Given the description of an element on the screen output the (x, y) to click on. 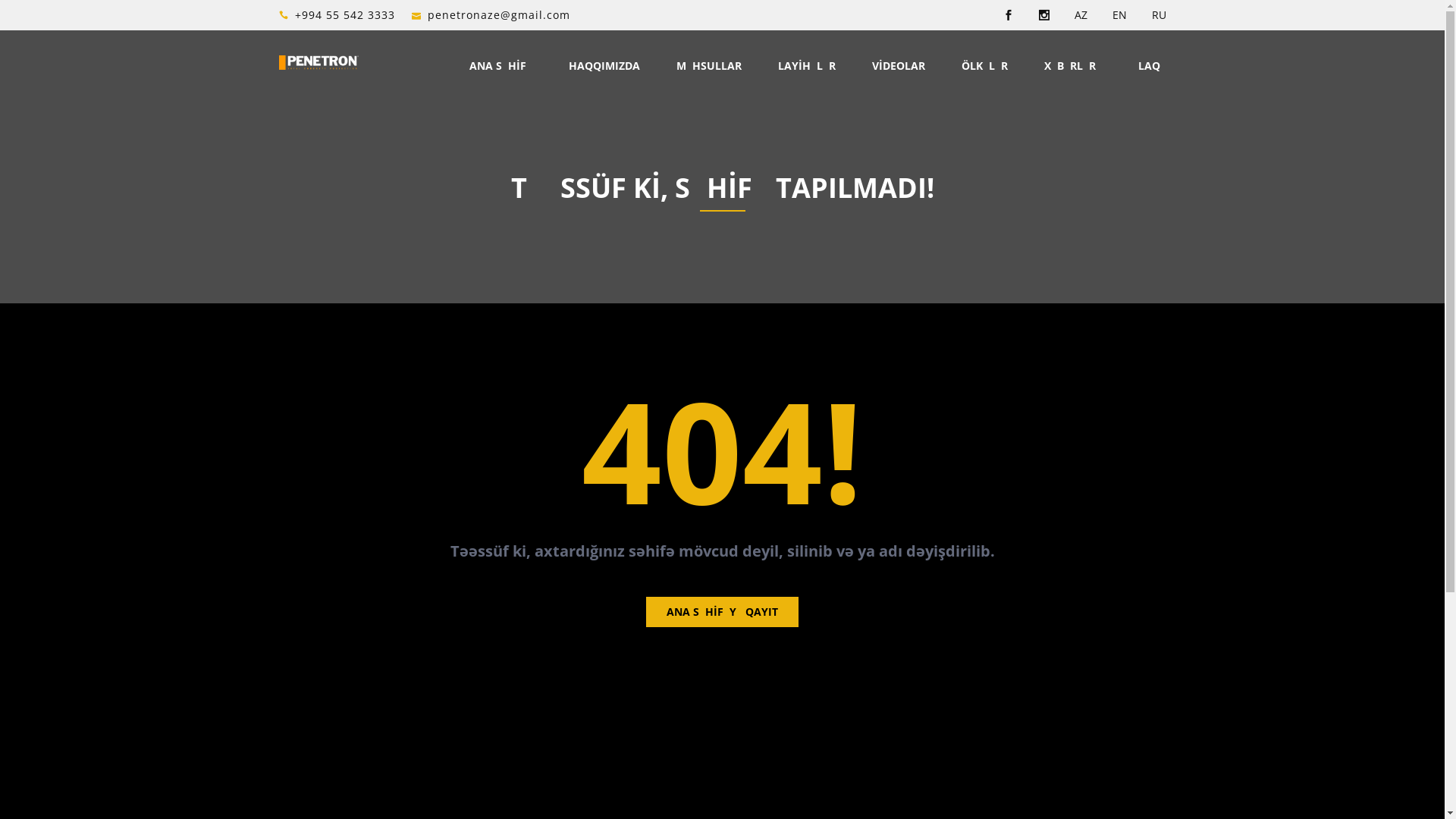
+994 55 542 3333 Element type: text (344, 14)
AZ Element type: text (1079, 15)
HAQQIMIZDA Element type: text (604, 65)
EN Element type: text (1118, 15)
VIDEOLAR Element type: text (898, 65)
penetronaze@gmail.com Element type: text (498, 14)
RU Element type: text (1158, 15)
